Given the description of an element on the screen output the (x, y) to click on. 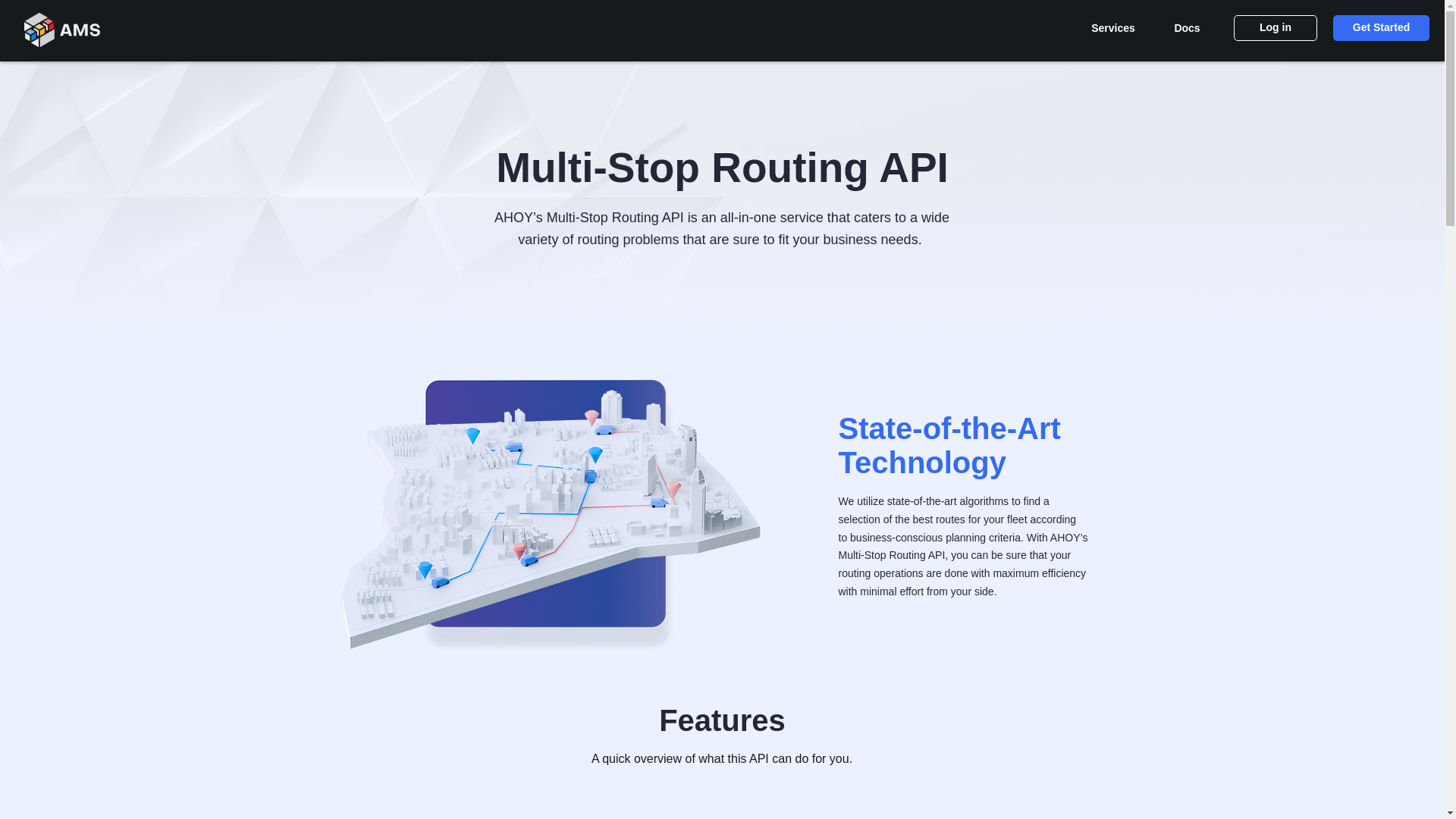
Get Started (1381, 27)
Docs (1187, 27)
Services (1112, 27)
Log in (1275, 27)
